Given the description of an element on the screen output the (x, y) to click on. 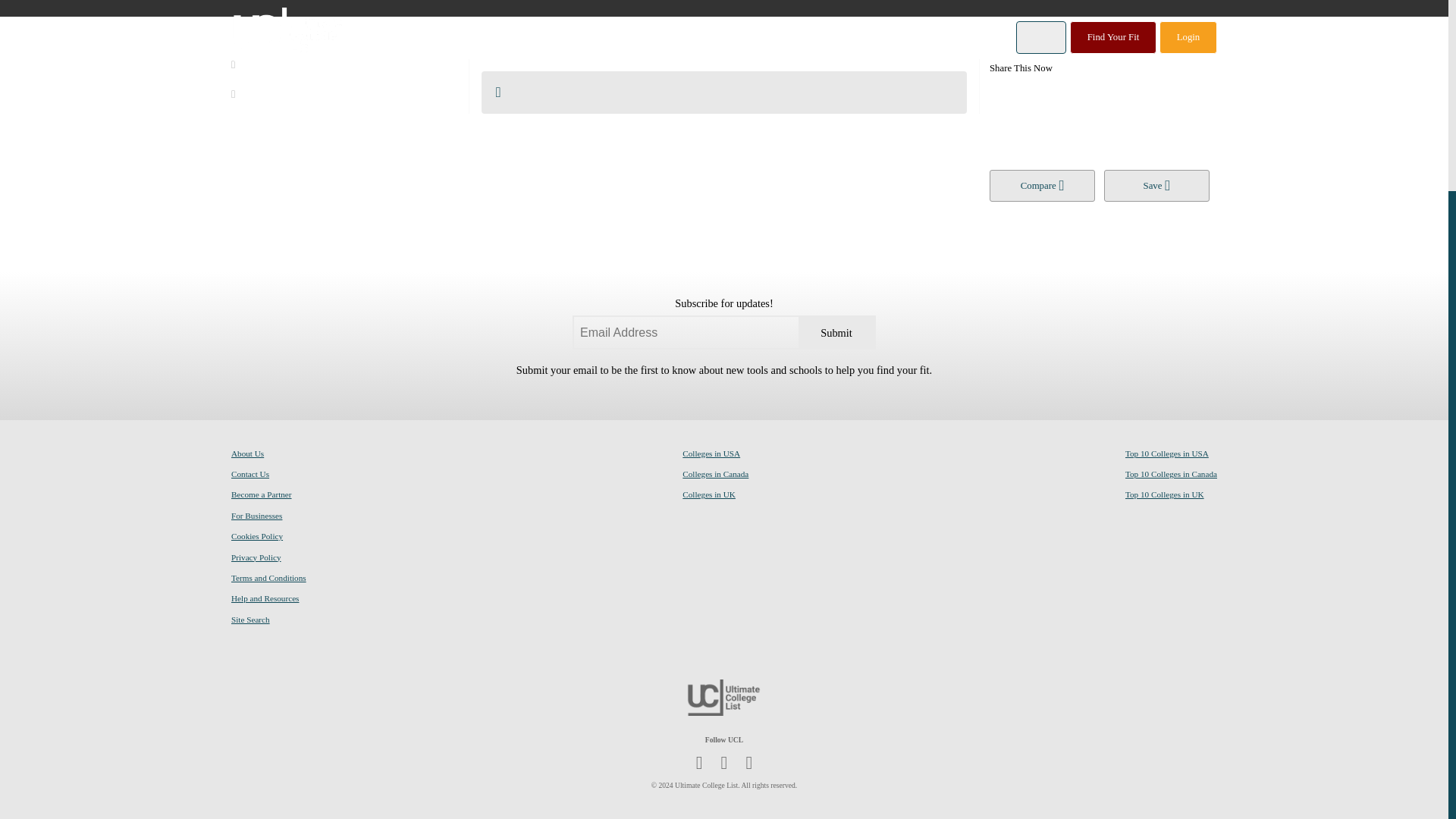
Cookies Policy (256, 536)
Colleges in UK (708, 494)
Contact Us (250, 474)
Help and Resources (264, 597)
For Businesses (256, 515)
Colleges in USA (710, 453)
Top 10 Colleges in Canada (1171, 474)
Become a Partner (261, 494)
Colleges in Canada (715, 474)
Top 10 Colleges in USA (1166, 453)
